Given the description of an element on the screen output the (x, y) to click on. 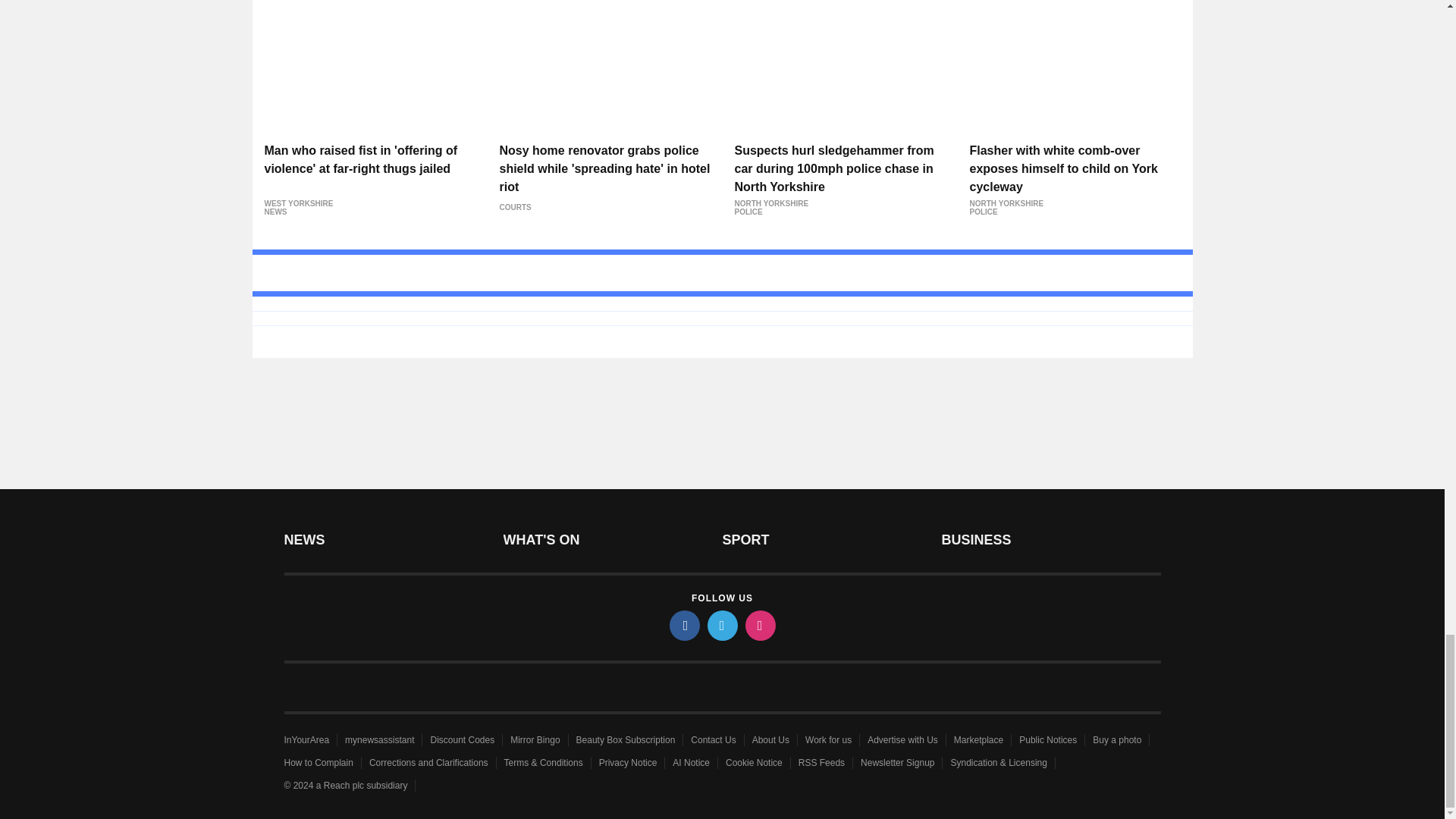
instagram (759, 625)
twitter (721, 625)
facebook (683, 625)
